Given the description of an element on the screen output the (x, y) to click on. 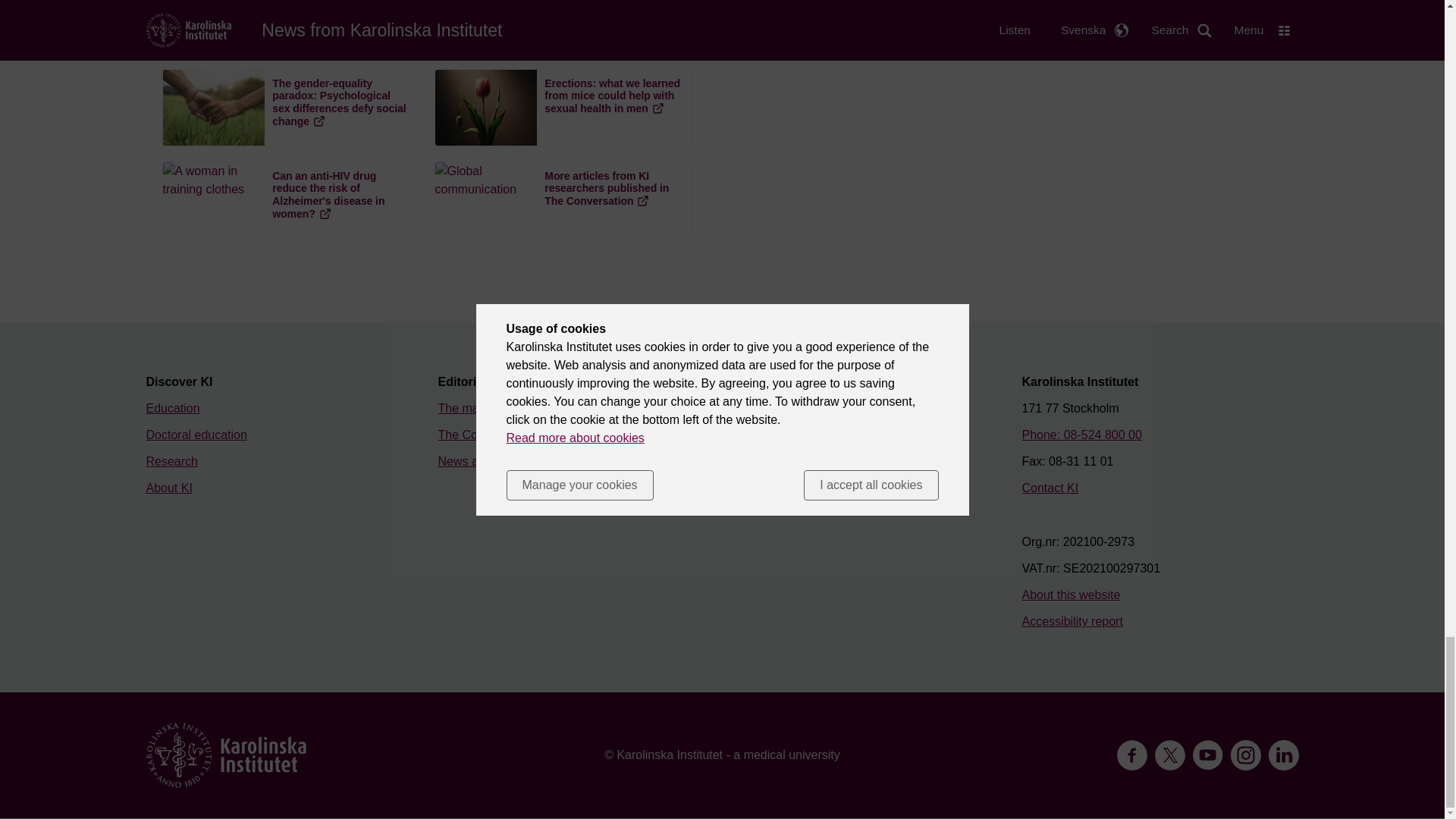
Home (225, 754)
